Given the description of an element on the screen output the (x, y) to click on. 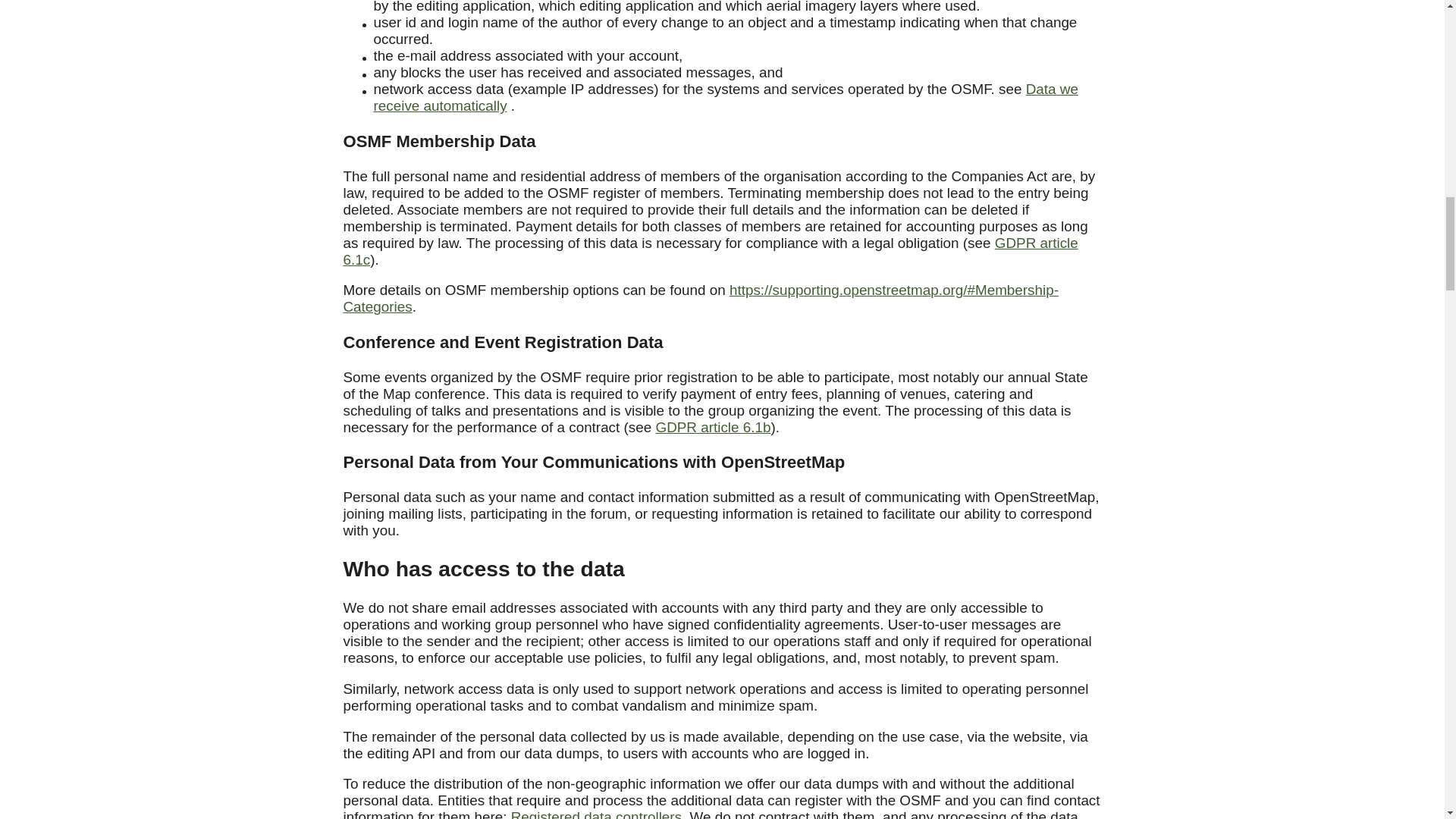
Registered data controllers (596, 814)
Data we receive automatically (724, 97)
